Given the description of an element on the screen output the (x, y) to click on. 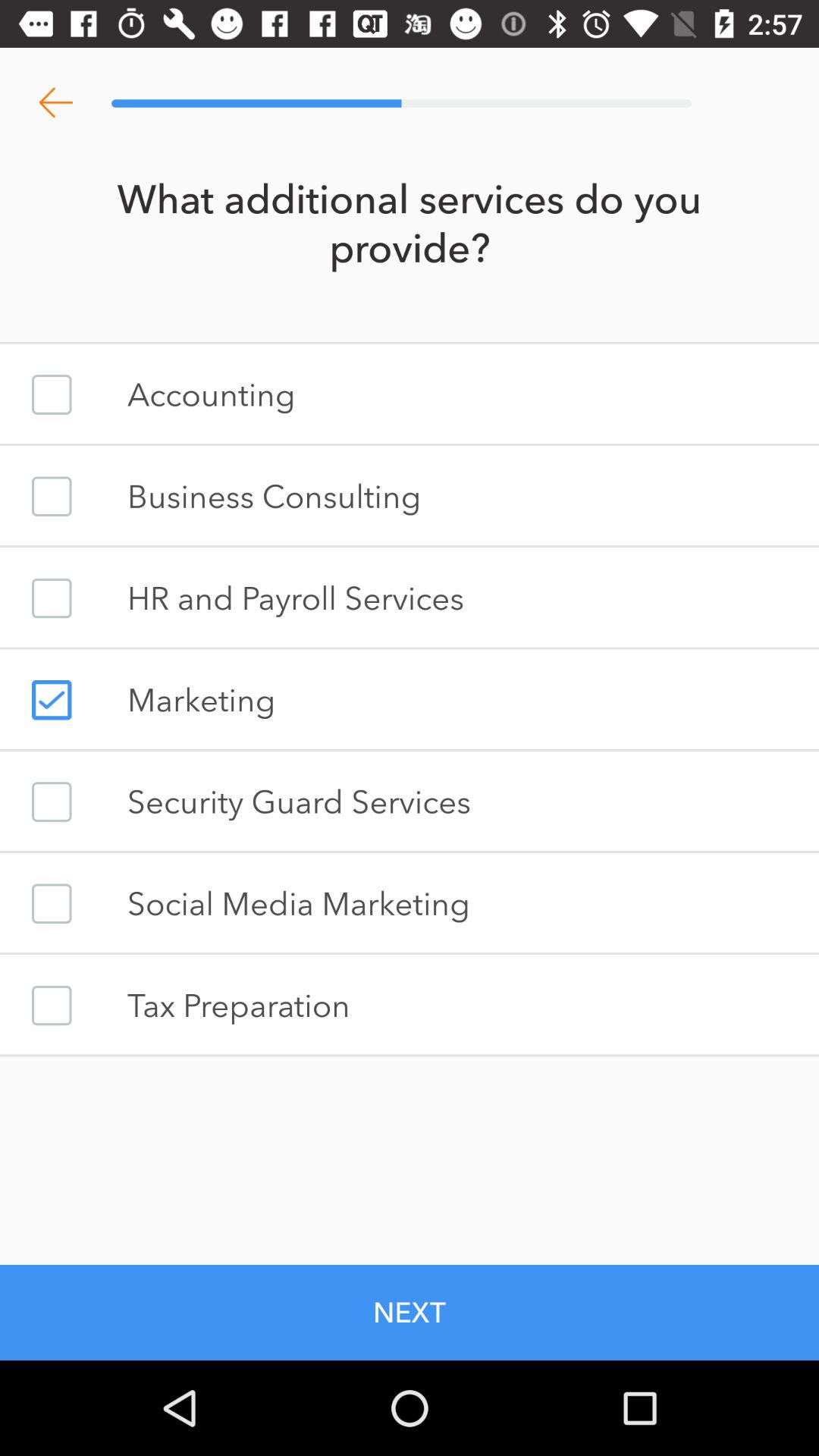
go to your account (51, 394)
